Given the description of an element on the screen output the (x, y) to click on. 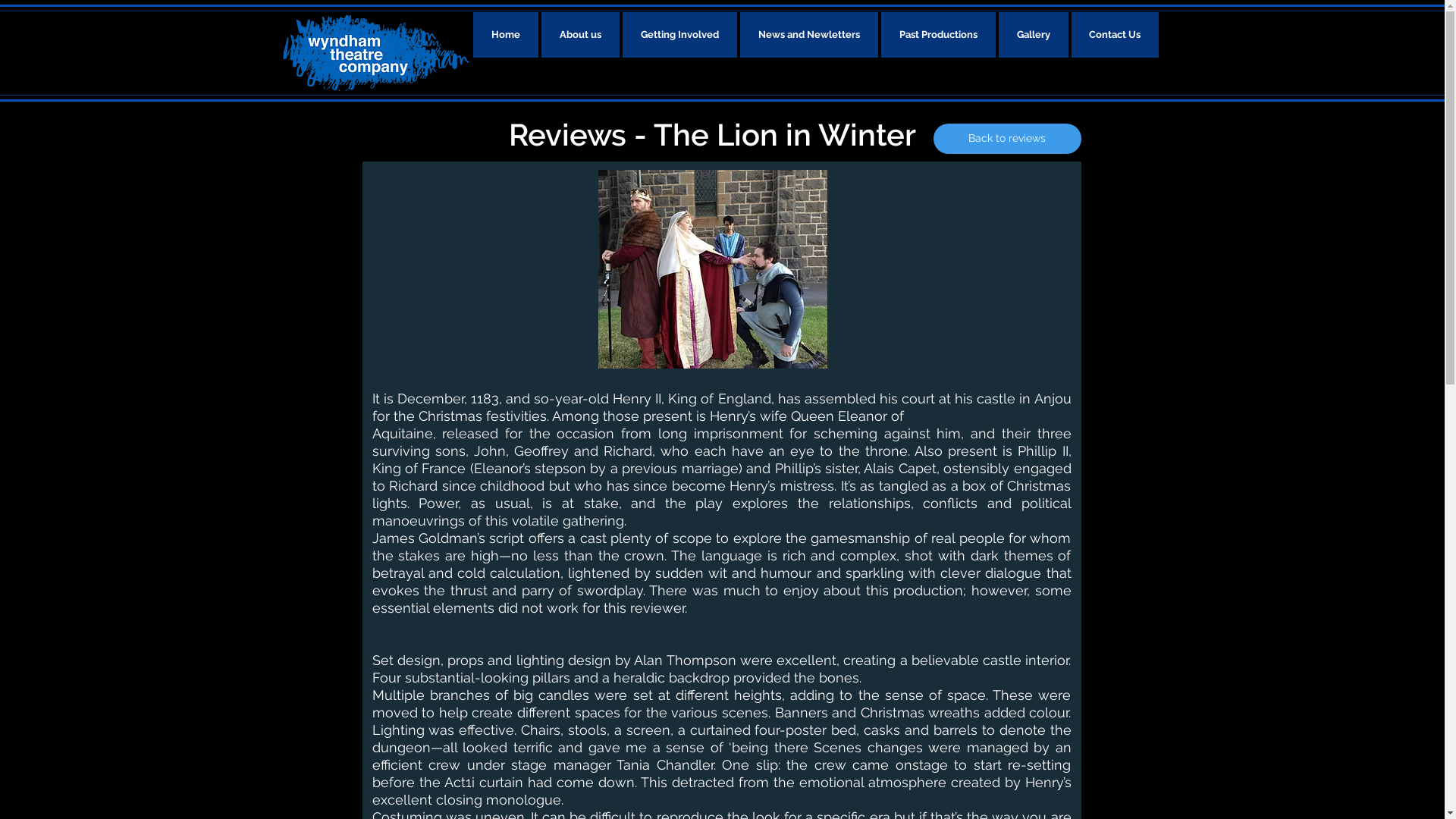
Back to reviews Element type: text (1006, 138)
Gallery Element type: text (1032, 34)
News and Newletters Element type: text (809, 34)
Home Element type: text (505, 34)
About us Element type: text (580, 34)
Getting Involved Element type: text (678, 34)
Contact Us Element type: text (1113, 34)
Past Productions Element type: text (938, 34)
